Given the description of an element on the screen output the (x, y) to click on. 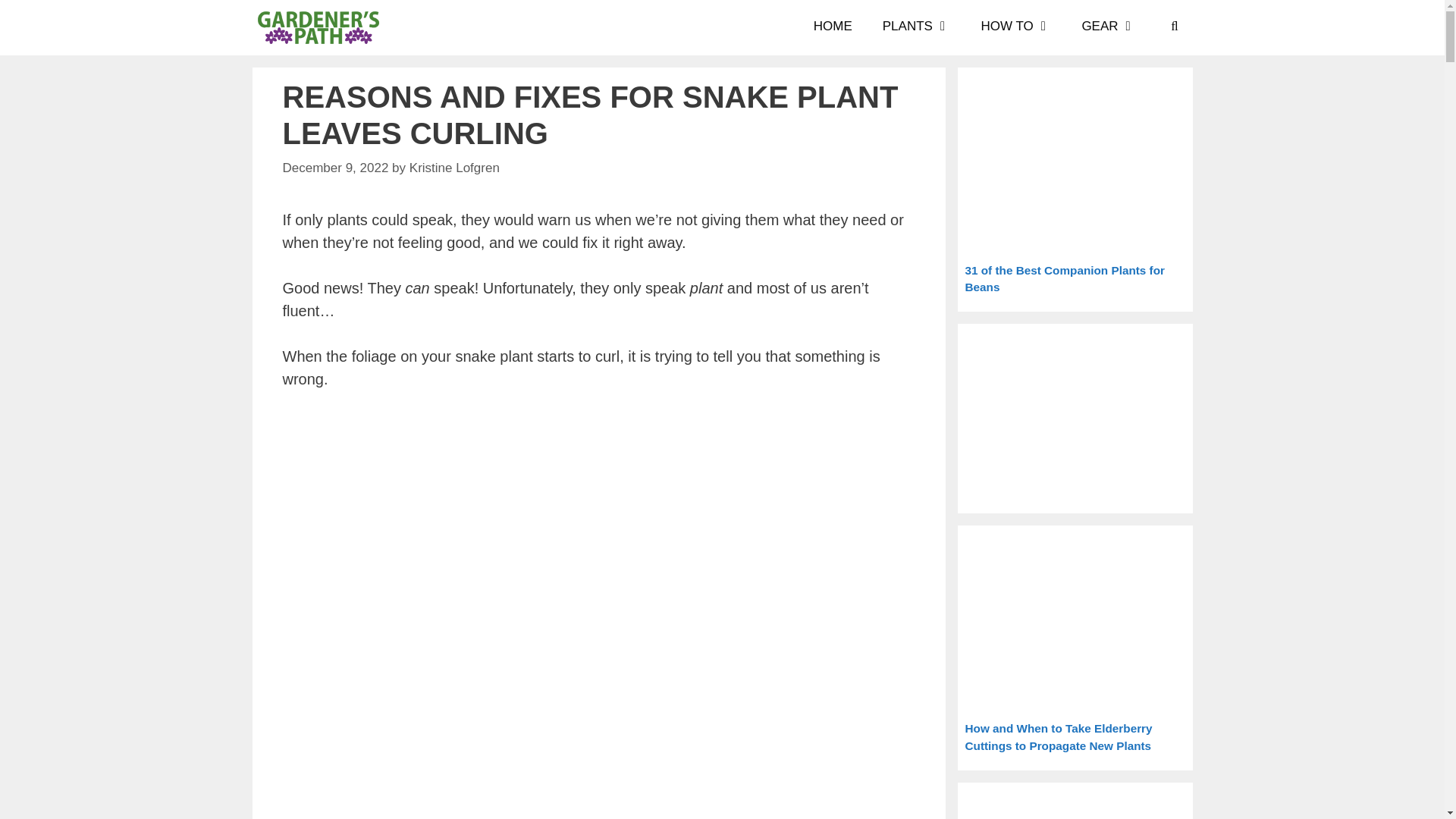
PLANTS (916, 26)
GEAR (1108, 26)
HOME (832, 26)
View all posts by Kristine Lofgren (454, 167)
HOW TO (1016, 26)
